Given the description of an element on the screen output the (x, y) to click on. 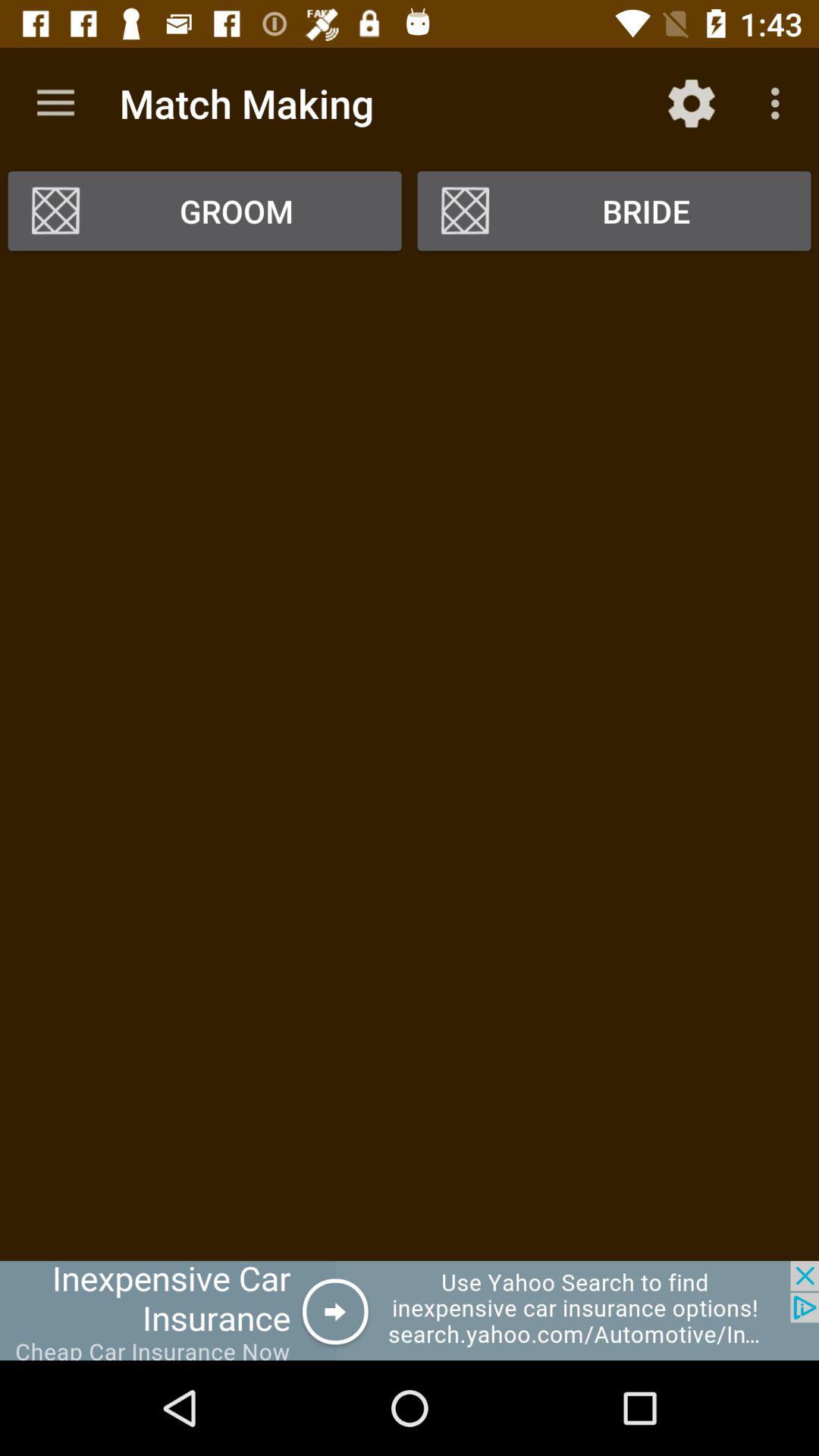
diskgrassland (409, 1310)
